Given the description of an element on the screen output the (x, y) to click on. 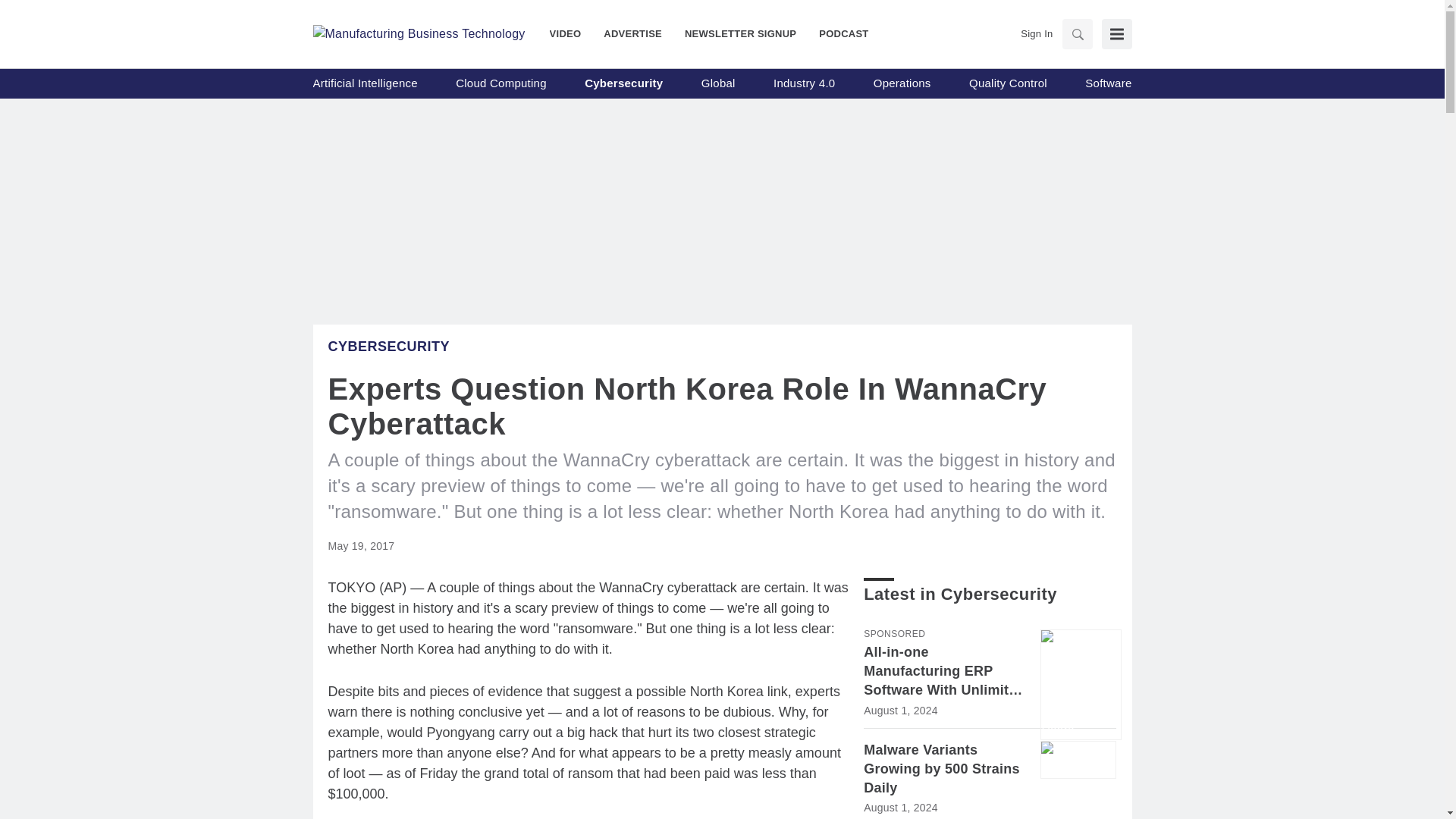
Cybersecurity (388, 346)
Software (1107, 83)
Artificial Intelligence (364, 83)
NEWSLETTER SIGNUP (740, 33)
Cloud Computing (501, 83)
Operations (902, 83)
Quality Control (1007, 83)
VIDEO (571, 33)
Global (718, 83)
Cybersecurity (623, 83)
